Given the description of an element on the screen output the (x, y) to click on. 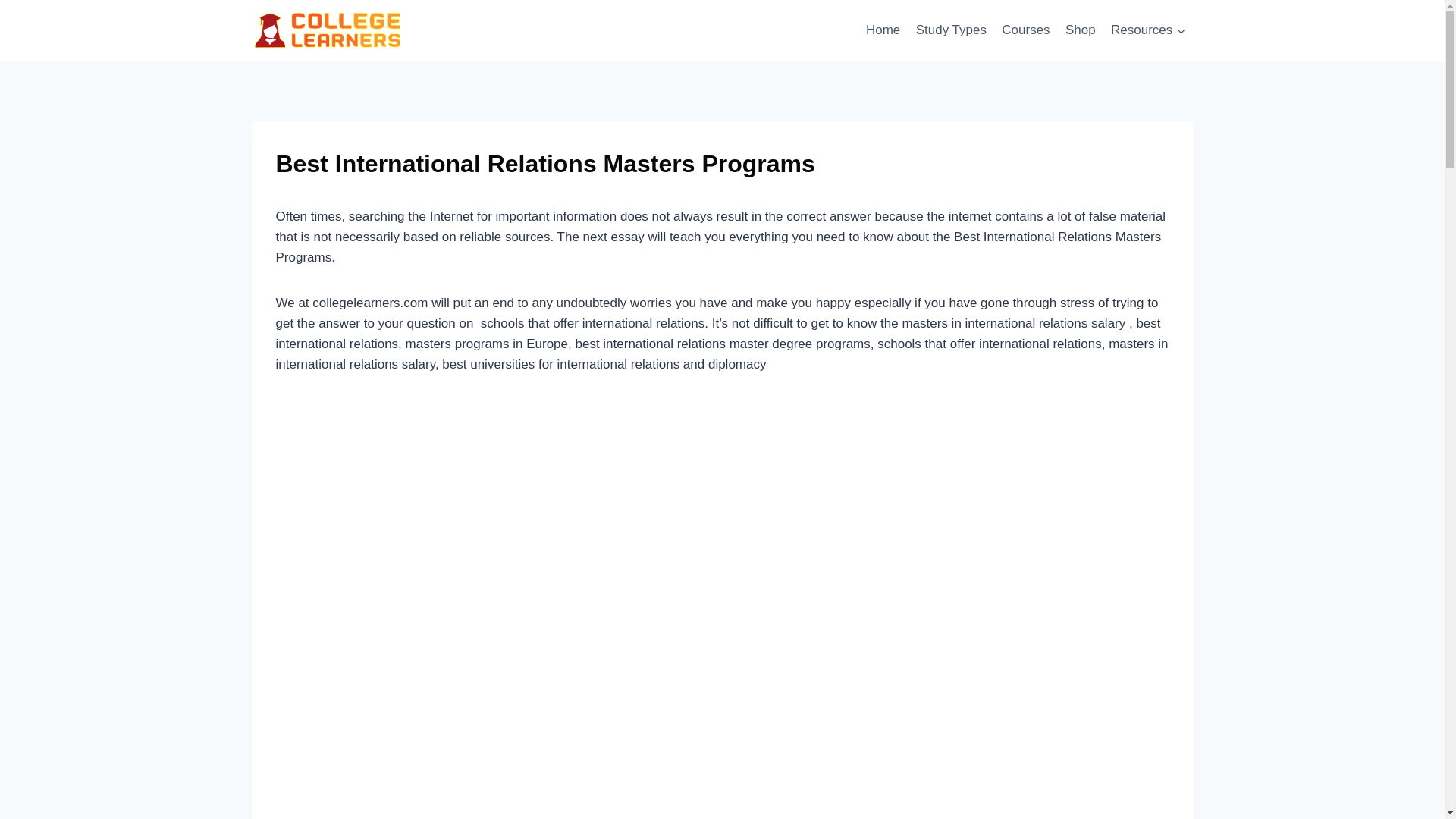
Shop (1080, 30)
Courses (1026, 30)
Resources (1148, 30)
Home (883, 30)
Study Types (950, 30)
